Given the description of an element on the screen output the (x, y) to click on. 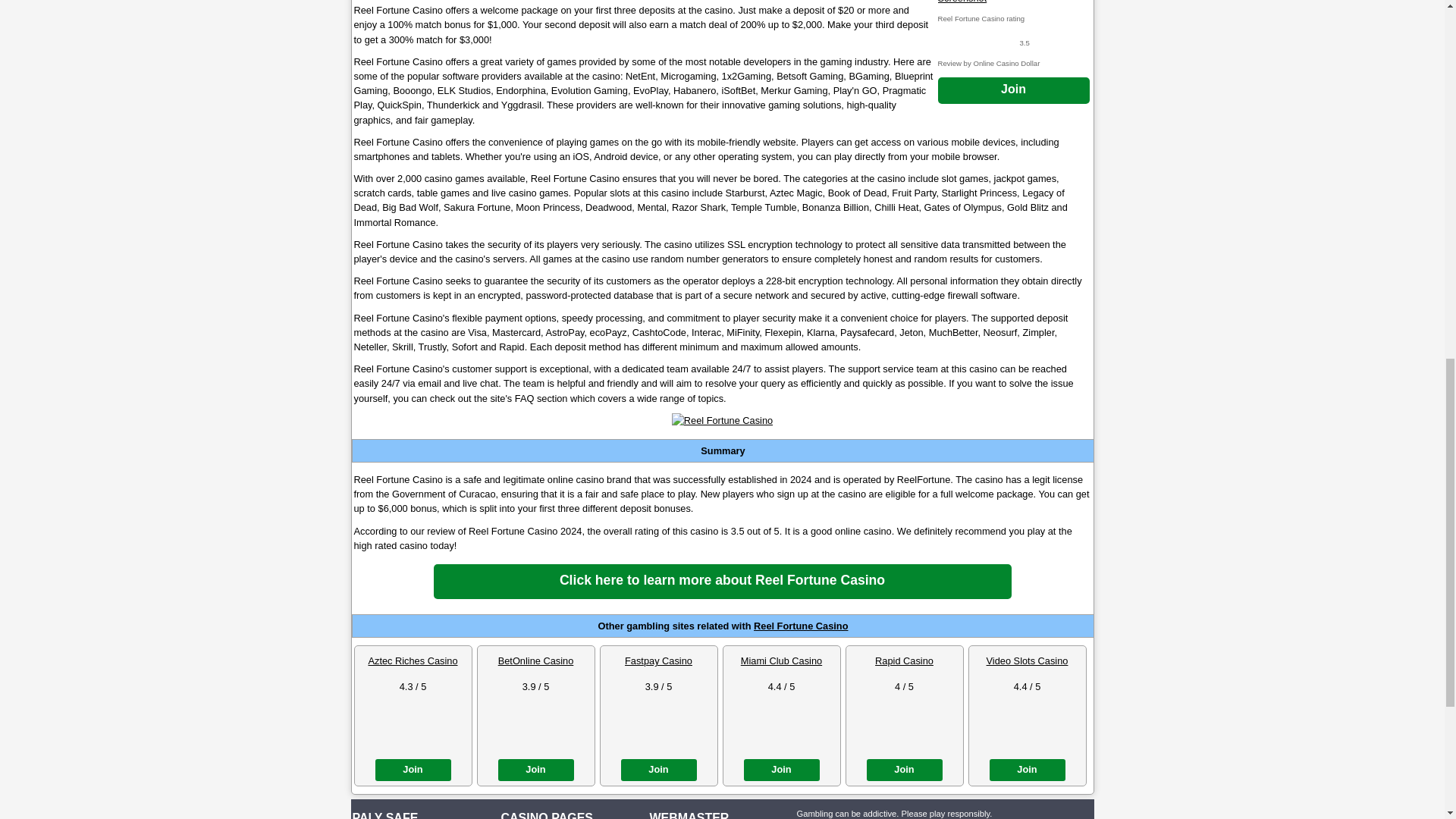
Join (1013, 90)
